Given the description of an element on the screen output the (x, y) to click on. 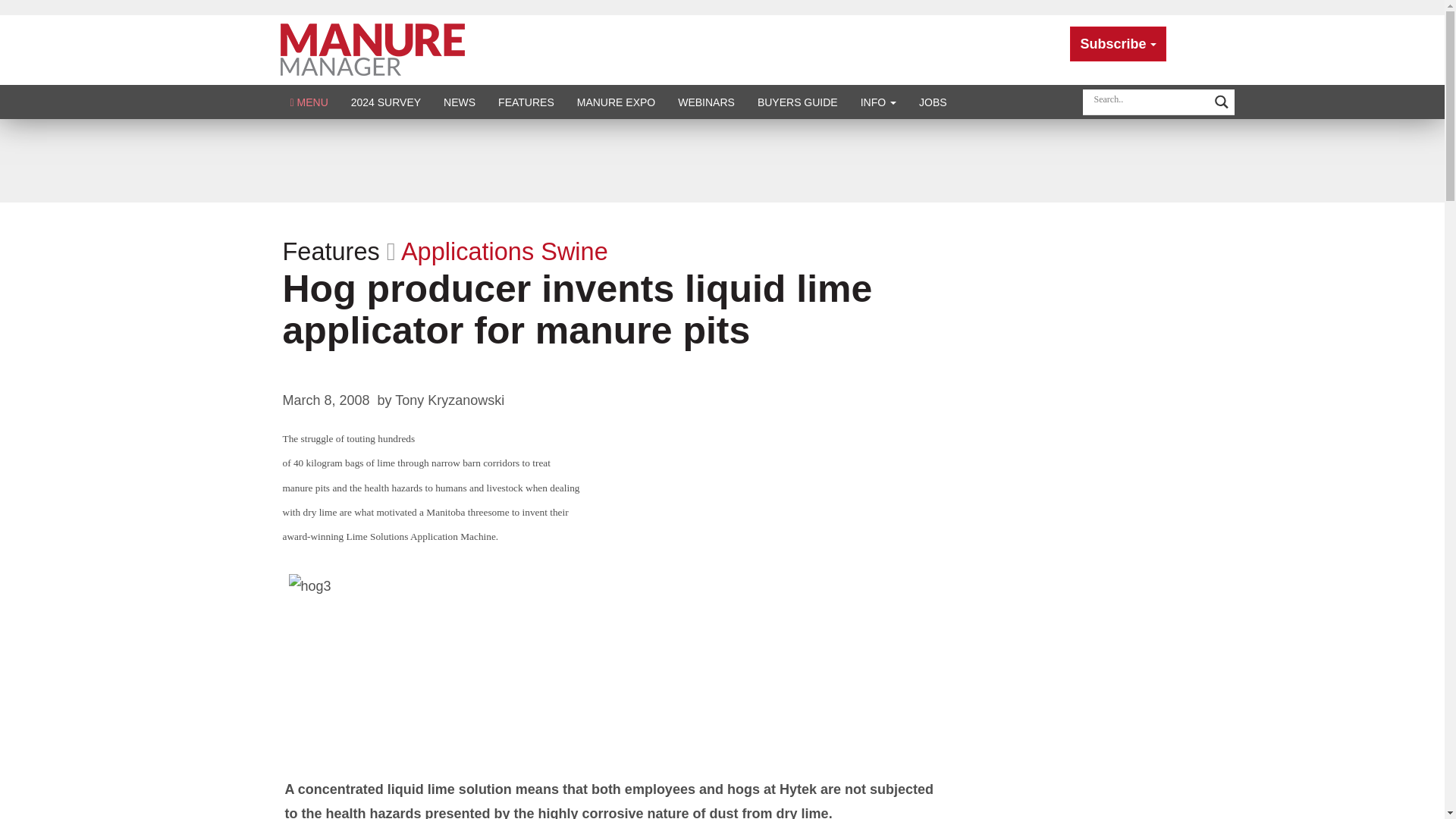
3rd party ad content (721, 160)
INFO (877, 101)
Subscribe (1118, 43)
Click to show site navigation (309, 101)
Manure Manager (372, 48)
2024 SURVEY (385, 101)
JOBS (932, 101)
MENU (309, 101)
BUYERS GUIDE (796, 101)
NEWS (459, 101)
